Given the description of an element on the screen output the (x, y) to click on. 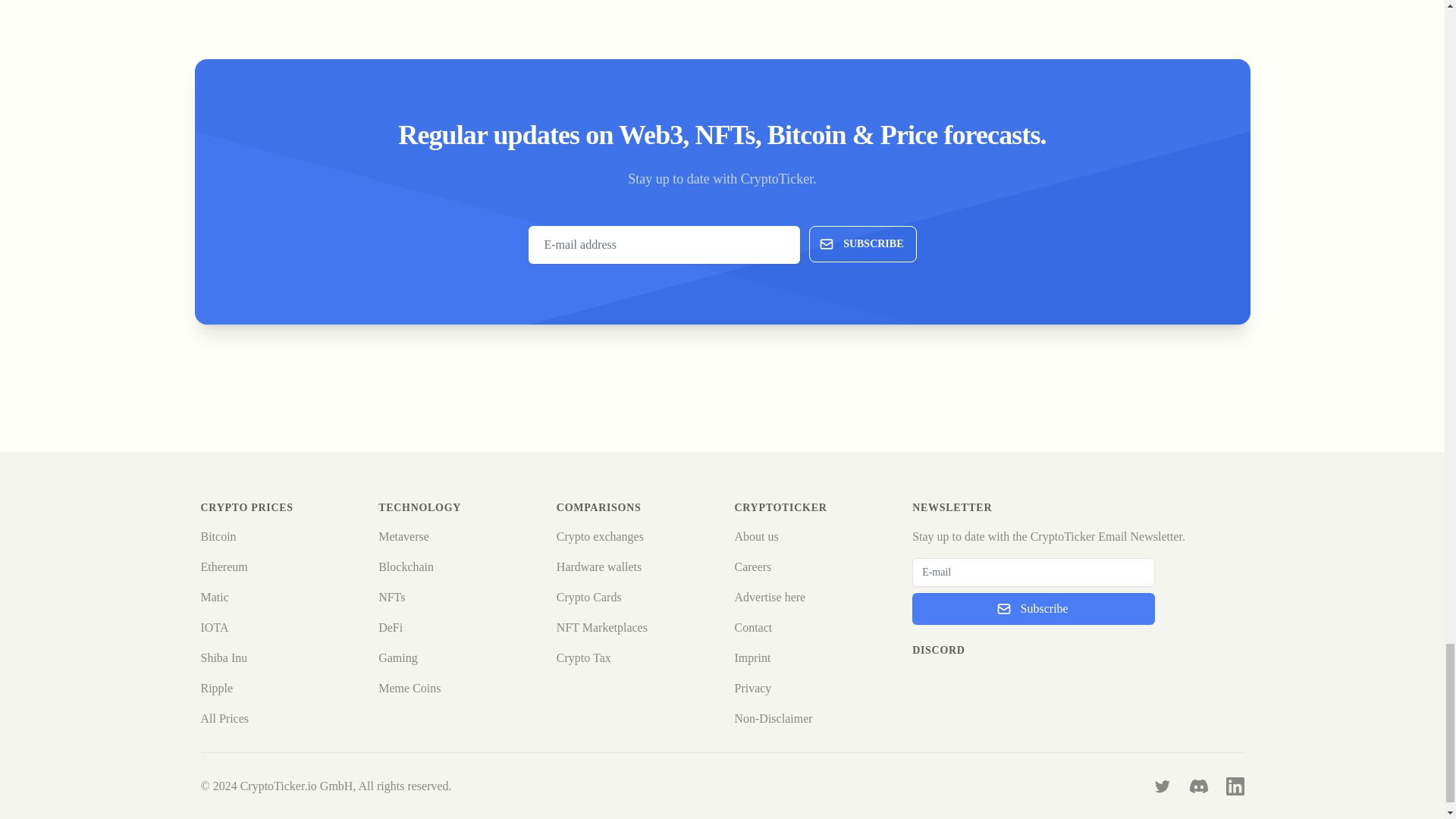
Matic (214, 596)
Blockchain (405, 566)
SUBSCRIBE (862, 244)
Ripple (216, 687)
Bitcoin (217, 535)
Metaverse (403, 535)
All Prices (224, 717)
Shiba Inu (223, 657)
IOTA (214, 626)
Ethereum (223, 566)
